Given the description of an element on the screen output the (x, y) to click on. 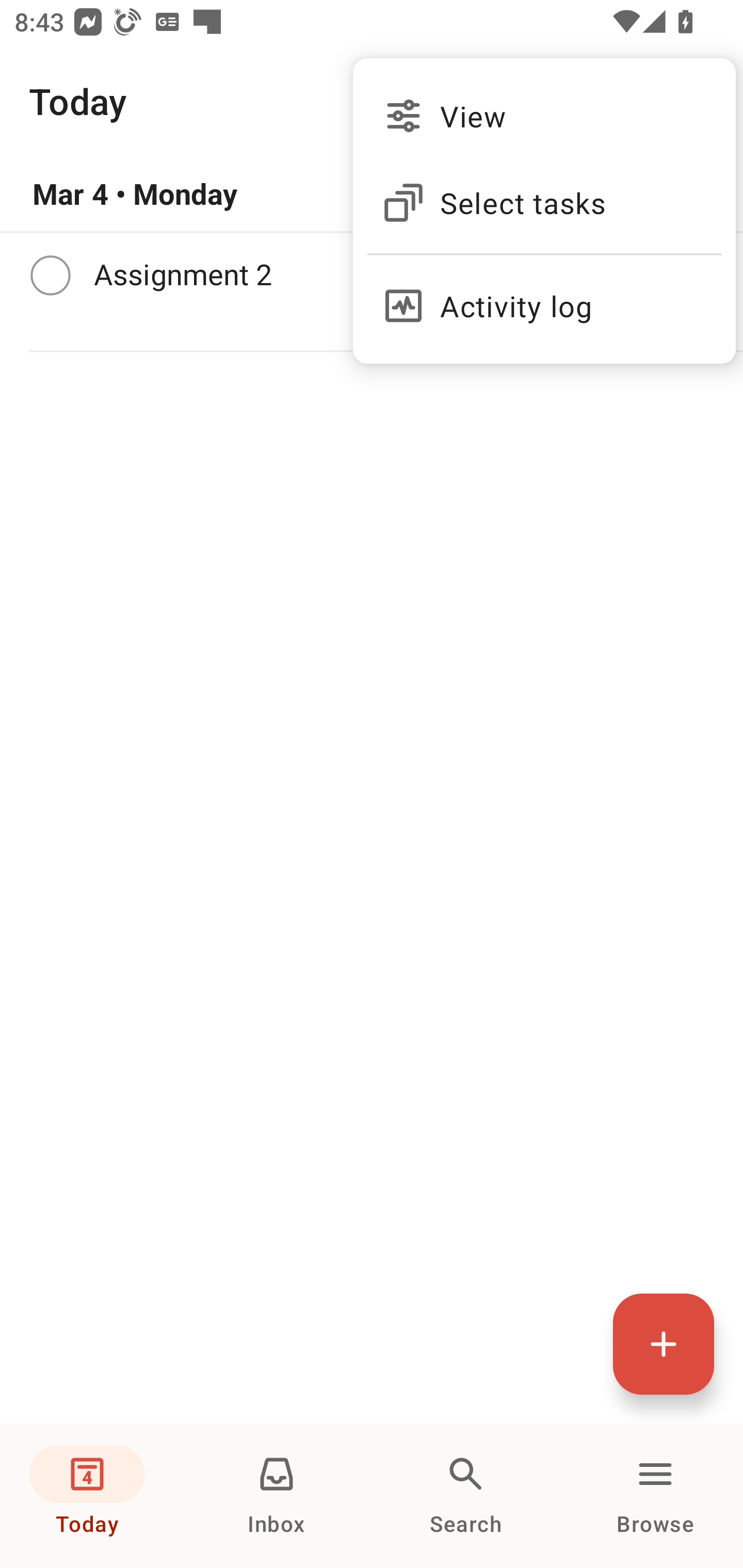
View (544, 115)
Select tasks (544, 202)
Activity log (544, 297)
